Given the description of an element on the screen output the (x, y) to click on. 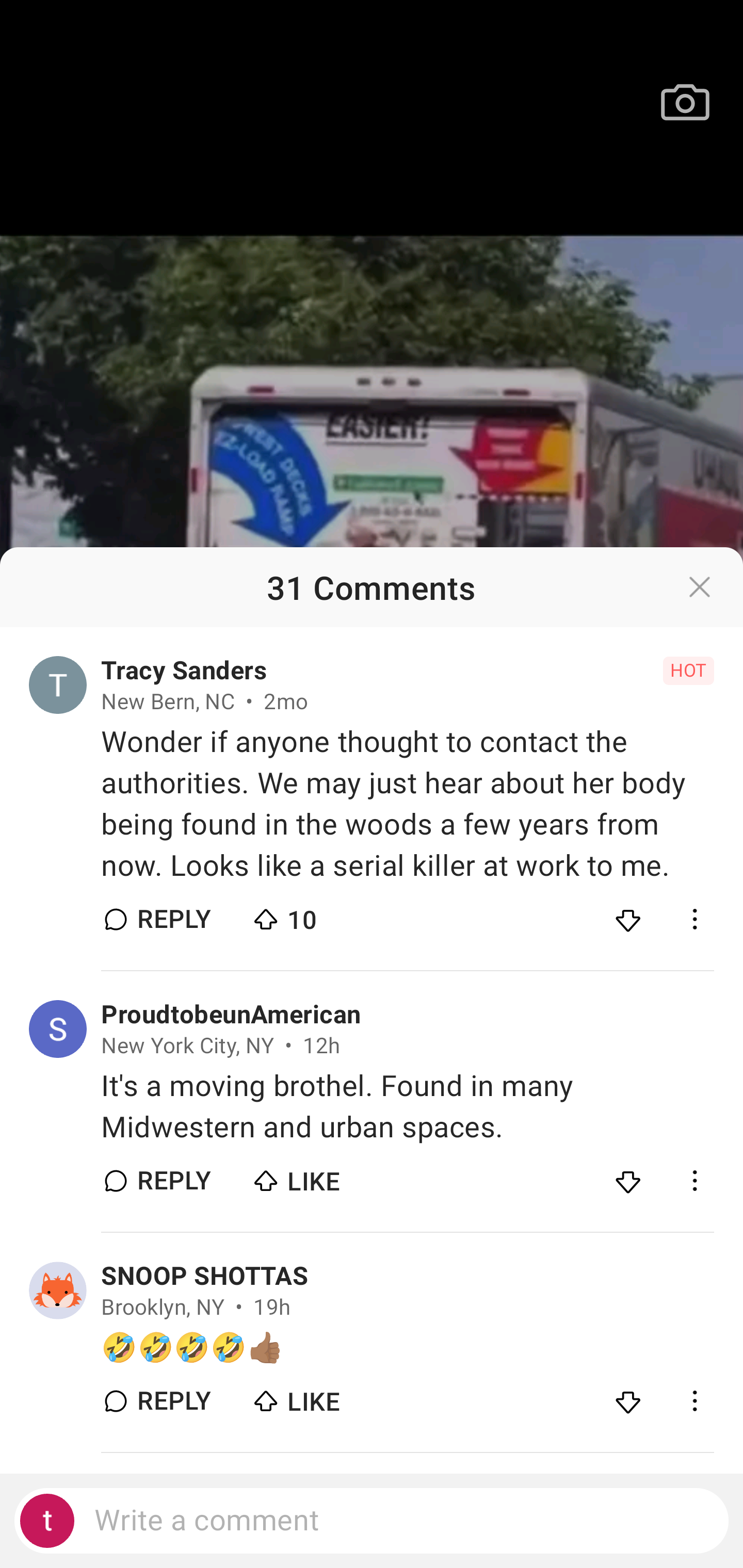
Tracy Sanders (184, 670)
10 (320, 914)
REPLY (173, 919)
ProudtobeunAmerican (231, 1015)
LIKE (320, 1176)
REPLY (173, 1181)
SNOOP SHOTTAS (204, 1276)
🤣🤣🤣🤣👍🏾 (407, 1347)
LIKE (320, 1396)
REPLY (173, 1401)
Write a comment (371, 1520)
